Given the description of an element on the screen output the (x, y) to click on. 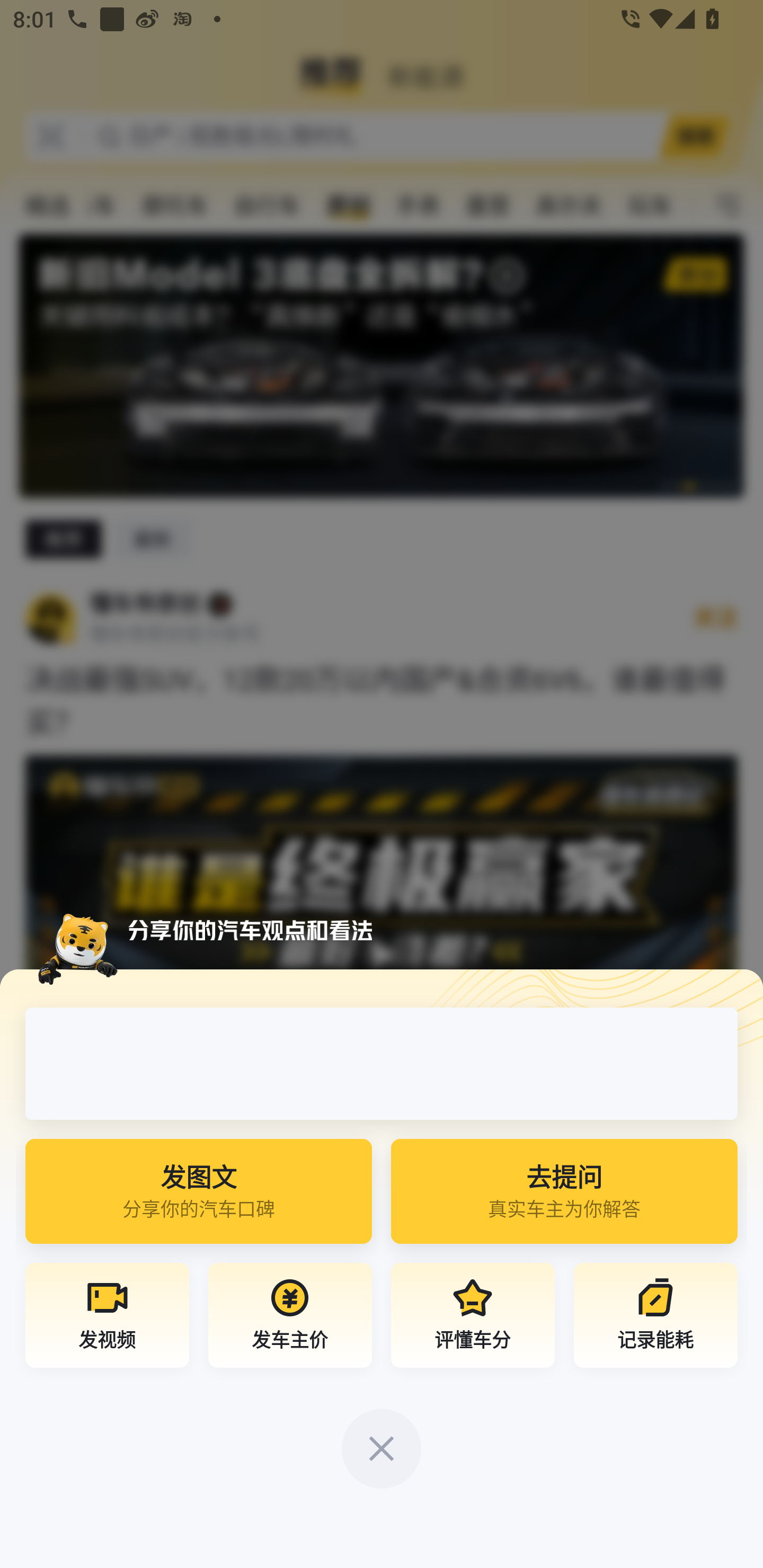
发图文 分享你的汽车口碑 (198, 1196)
去提问 真实车主为你解答 (563, 1196)
发视频 (107, 1317)
发车主价 (289, 1317)
评懂车分 (472, 1317)
记录能耗 (655, 1317)
 (381, 1448)
